Given the description of an element on the screen output the (x, y) to click on. 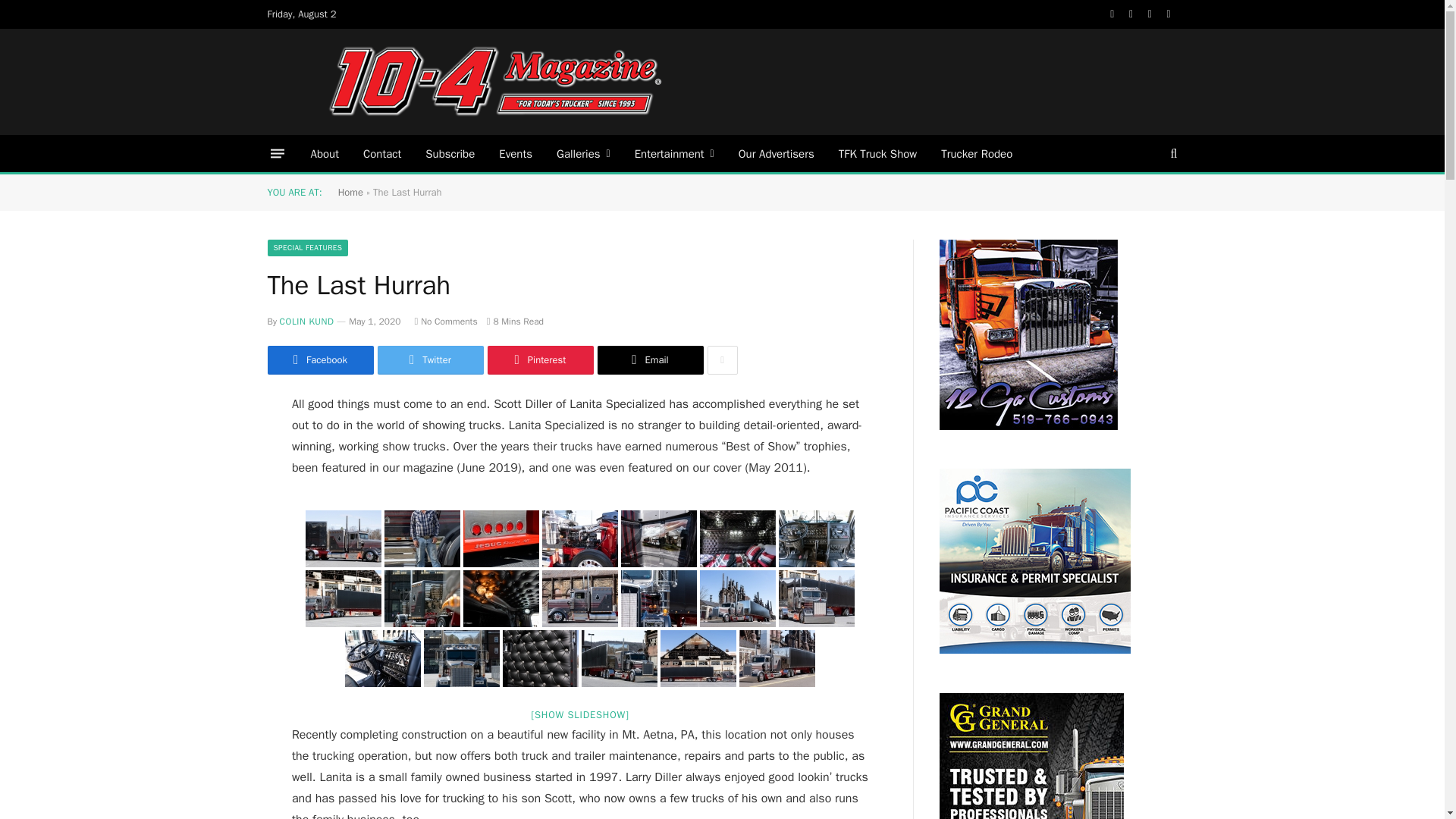
About (324, 153)
Facebook (319, 359)
Posts by Colin Kund (306, 321)
Home (349, 192)
TFK Truck Show (877, 153)
Trucker Rodeo (976, 153)
Share via Email (649, 359)
Our Advertisers (776, 153)
SPECIAL FEATURES (306, 247)
Show More Social Sharing (721, 359)
Events (515, 153)
10-4 Magazine (494, 81)
Entertainment (674, 153)
No Comments (445, 321)
COLIN KUND (306, 321)
